Given the description of an element on the screen output the (x, y) to click on. 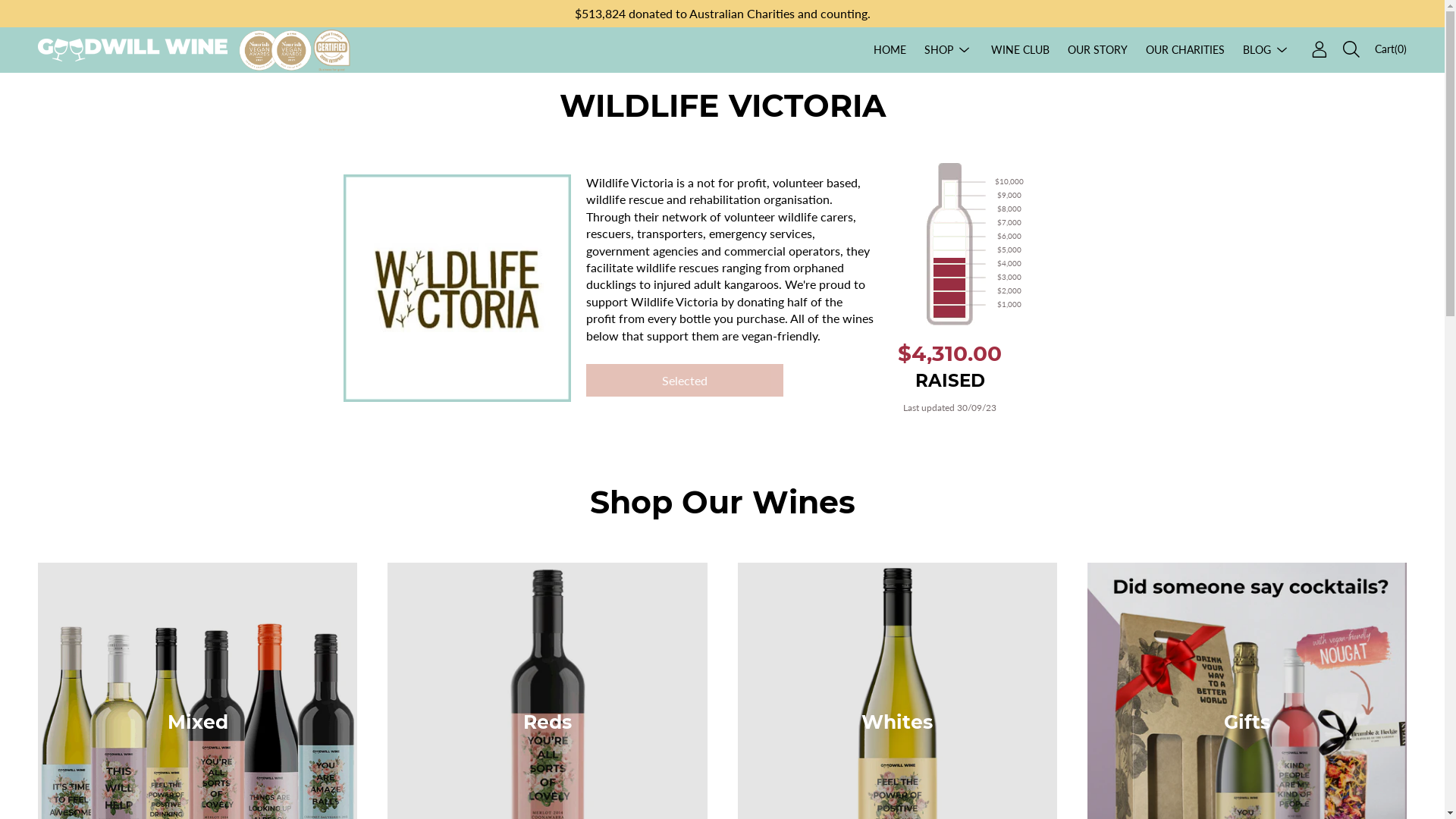
Selected Element type: text (683, 380)
OUR CHARITIES Element type: text (1184, 48)
$513,824 donated to Australian Charities and counting. Element type: text (721, 13)
Open search bar Element type: text (1351, 49)
Cart
(
0
) Element type: text (1390, 49)
BLOG Element type: text (1256, 48)
HOME Element type: text (889, 48)
Show submenu Element type: text (964, 49)
WINE CLUB Element type: text (1020, 48)
Show submenu Element type: text (1281, 49)
SHOP Element type: text (938, 48)
OUR STORY Element type: text (1097, 48)
